Given the description of an element on the screen output the (x, y) to click on. 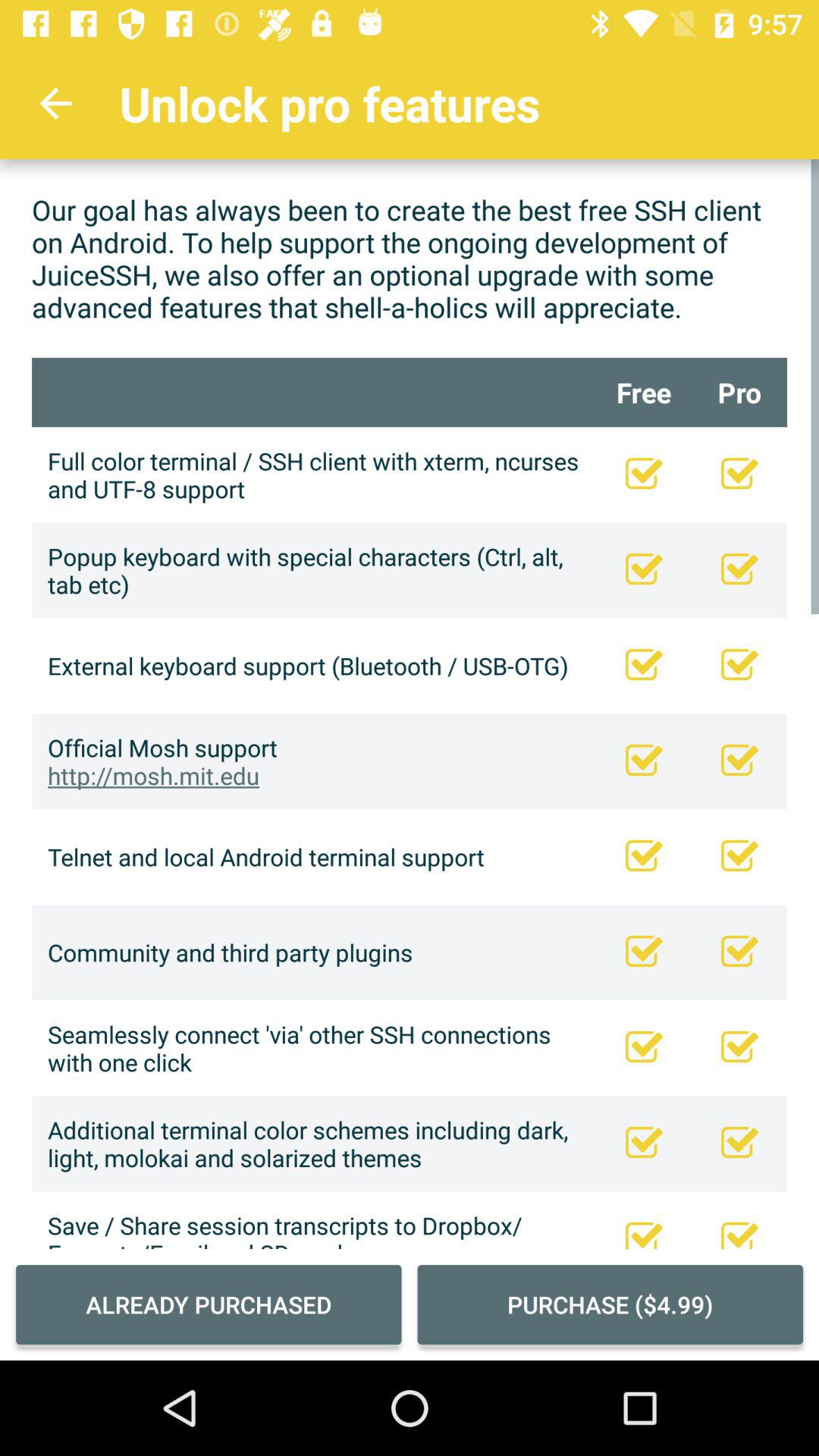
turn off item to the right of already purchased item (610, 1304)
